Given the description of an element on the screen output the (x, y) to click on. 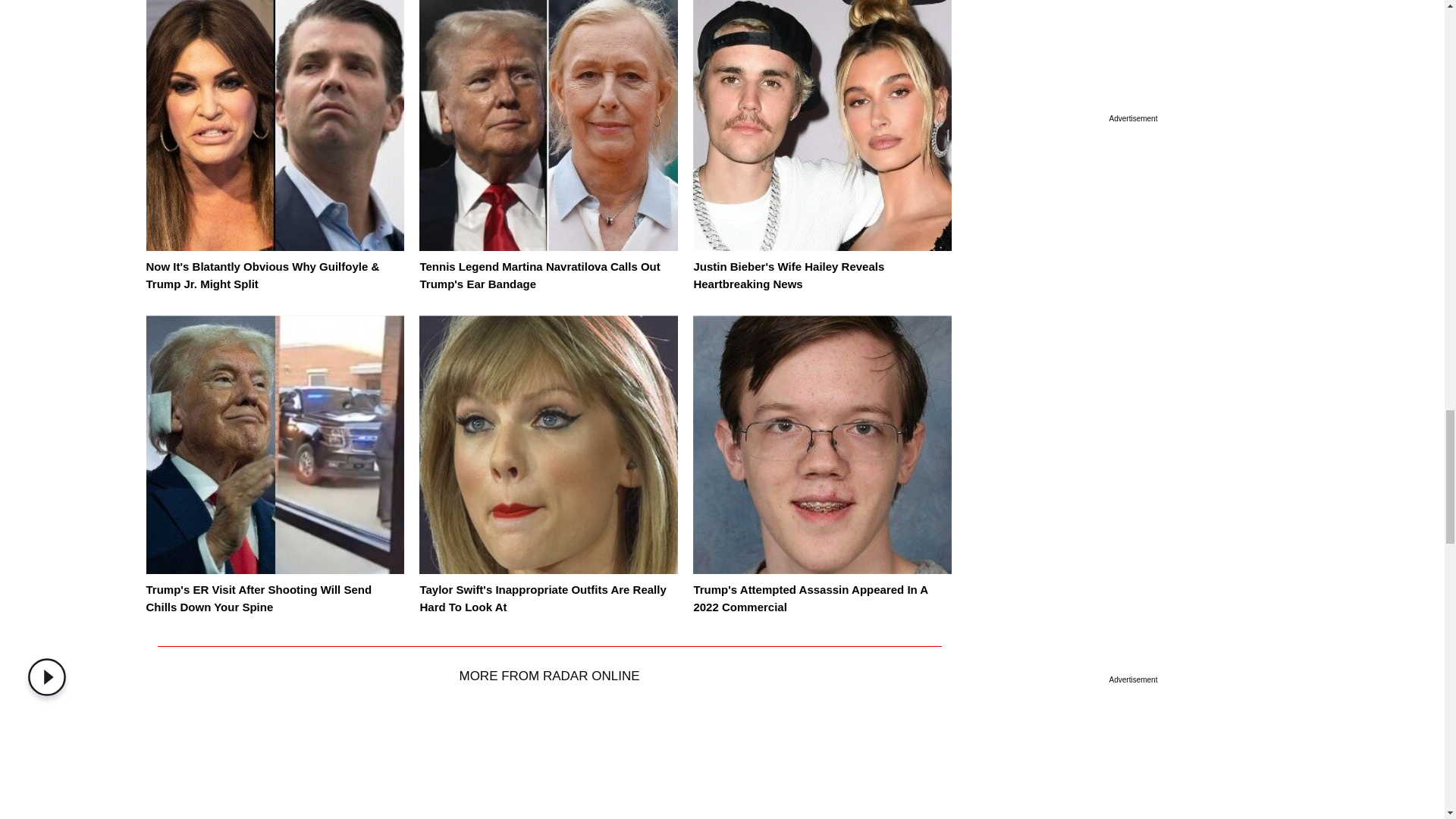
Justin Bieber's Wife Hailey Reveals Heartbreaking News (788, 275)
Trump's Attempted Assassin Appeared In A 2022 Commercial (810, 598)
